Given the description of an element on the screen output the (x, y) to click on. 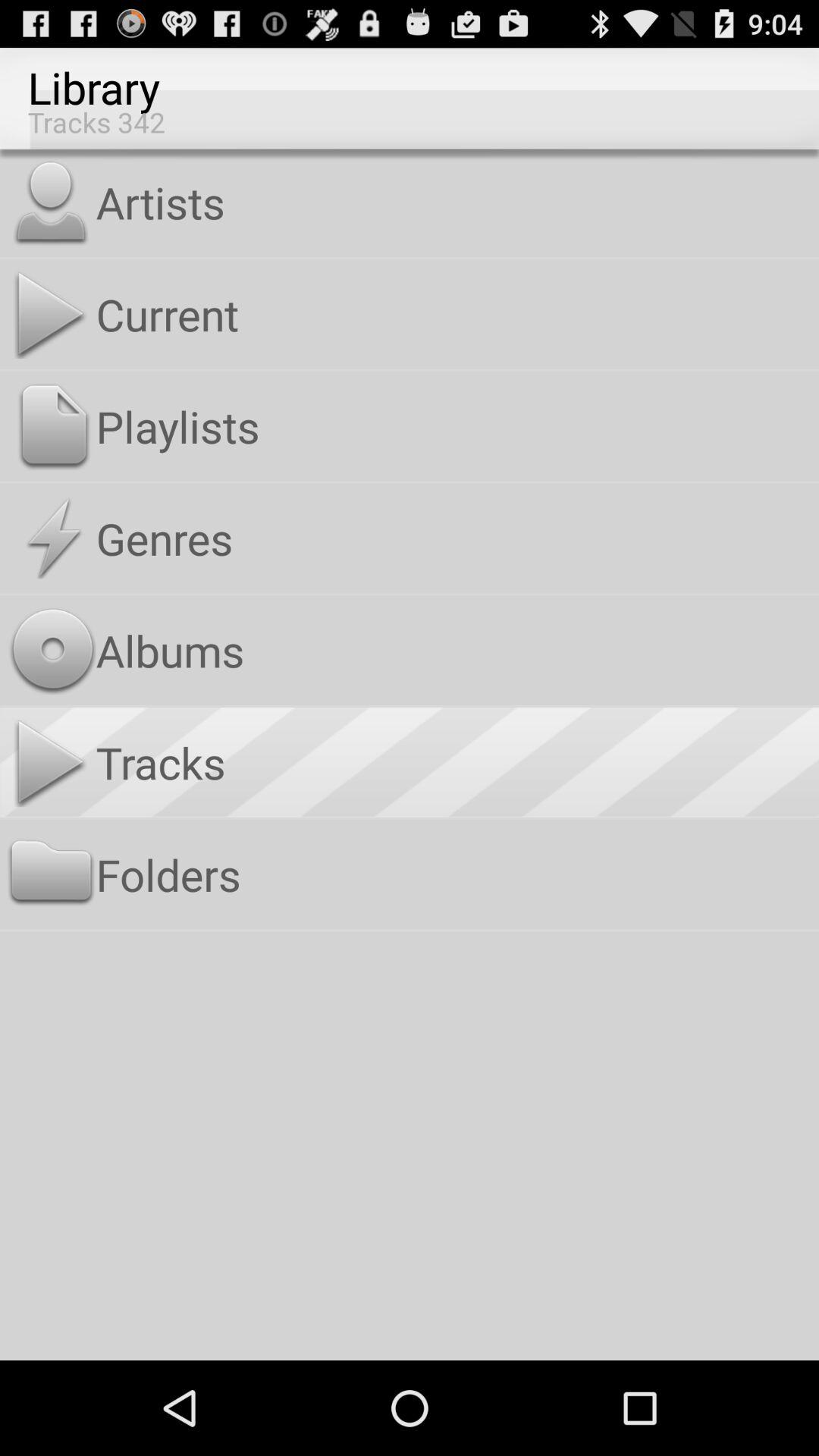
select playlists (454, 425)
